Given the description of an element on the screen output the (x, y) to click on. 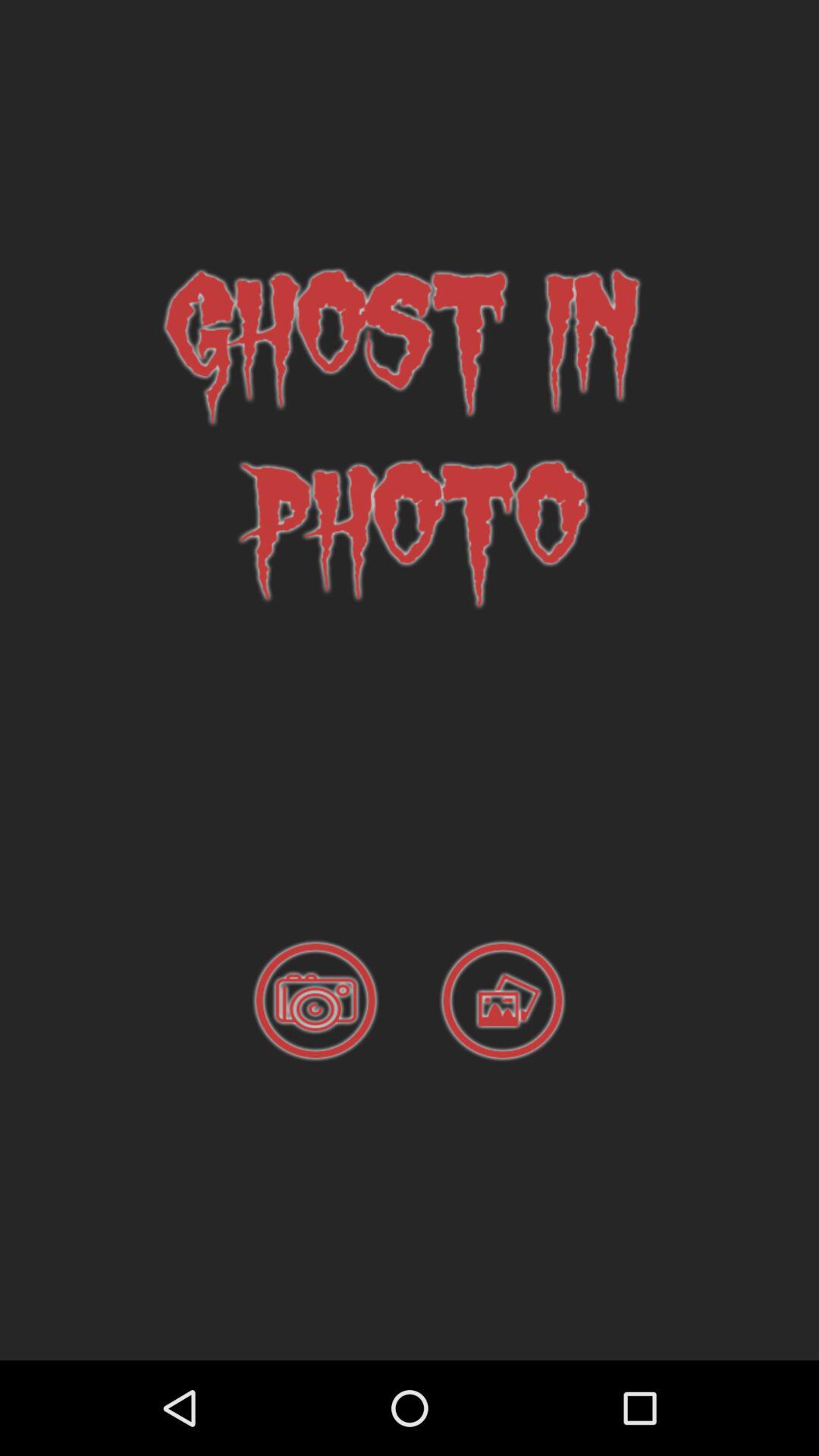
go to camera (315, 1000)
